Given the description of an element on the screen output the (x, y) to click on. 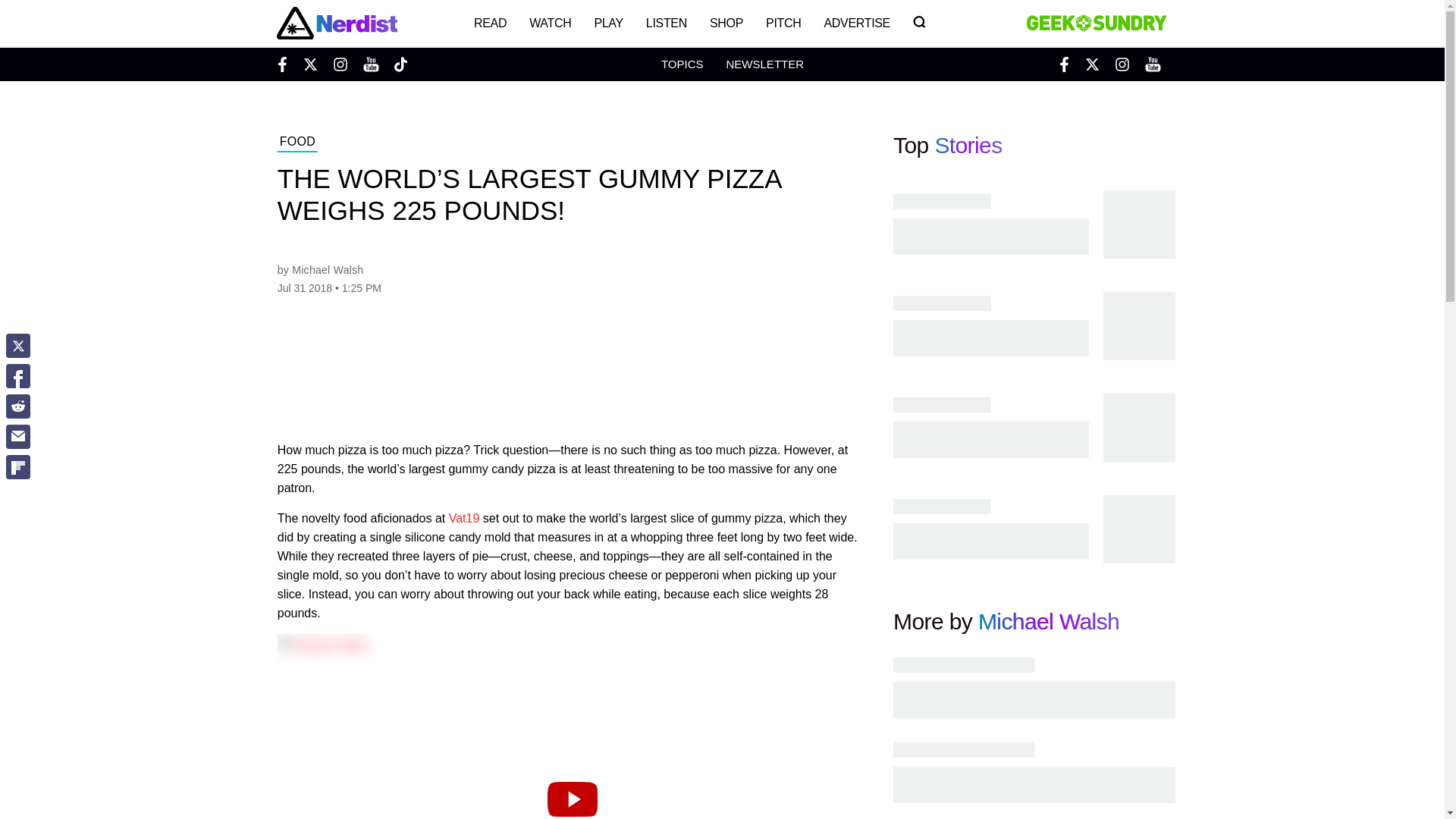
Nerdist (336, 23)
Youtube Nerdist (370, 63)
WATCH (550, 22)
NEWSLETTER (764, 63)
PITCH (783, 22)
LISTEN (666, 22)
Topics (681, 63)
Michael Walsh (327, 269)
PITCH (783, 22)
TOPICS (681, 63)
